Given the description of an element on the screen output the (x, y) to click on. 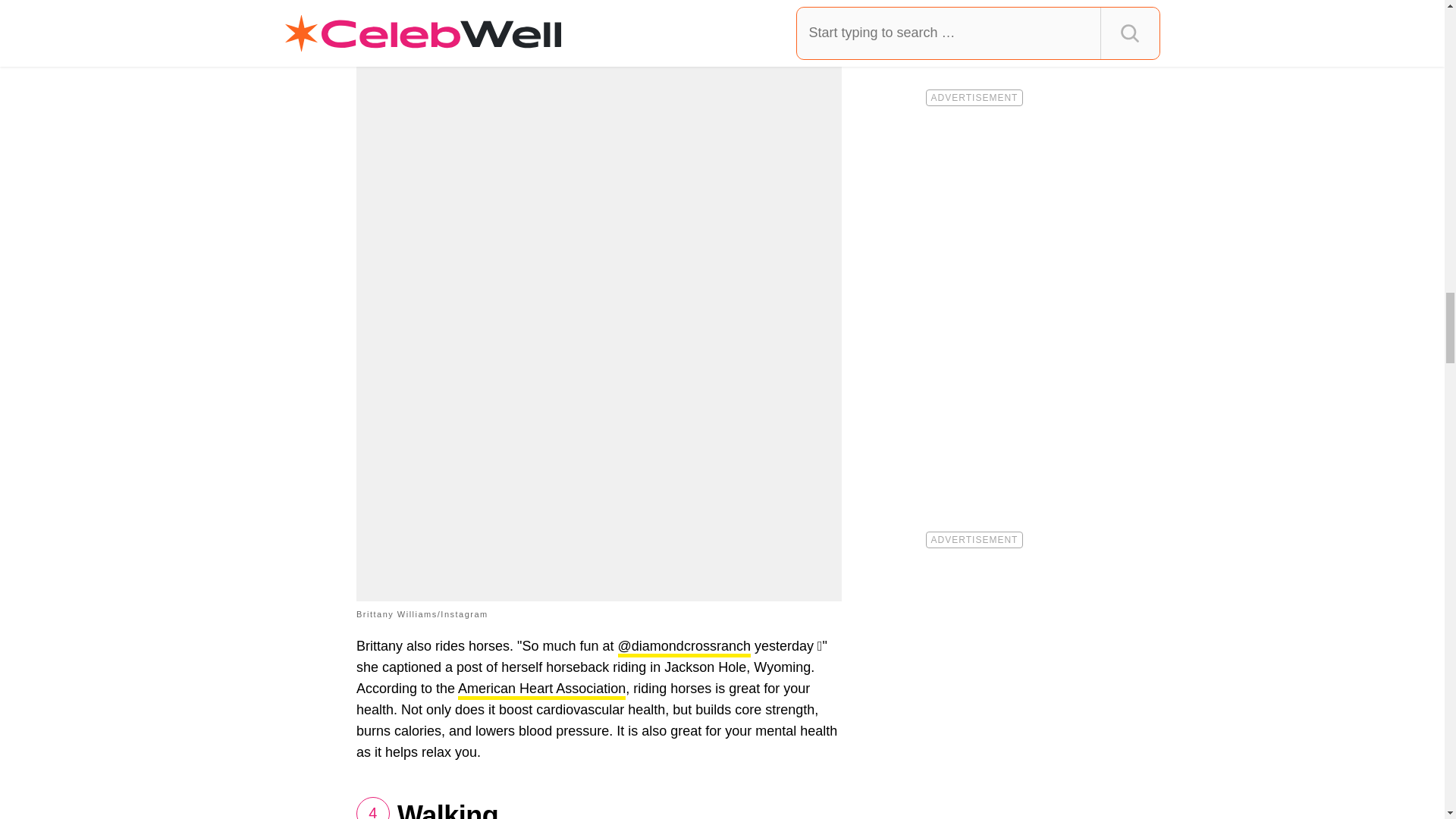
American Heart Association (542, 690)
